Given the description of an element on the screen output the (x, y) to click on. 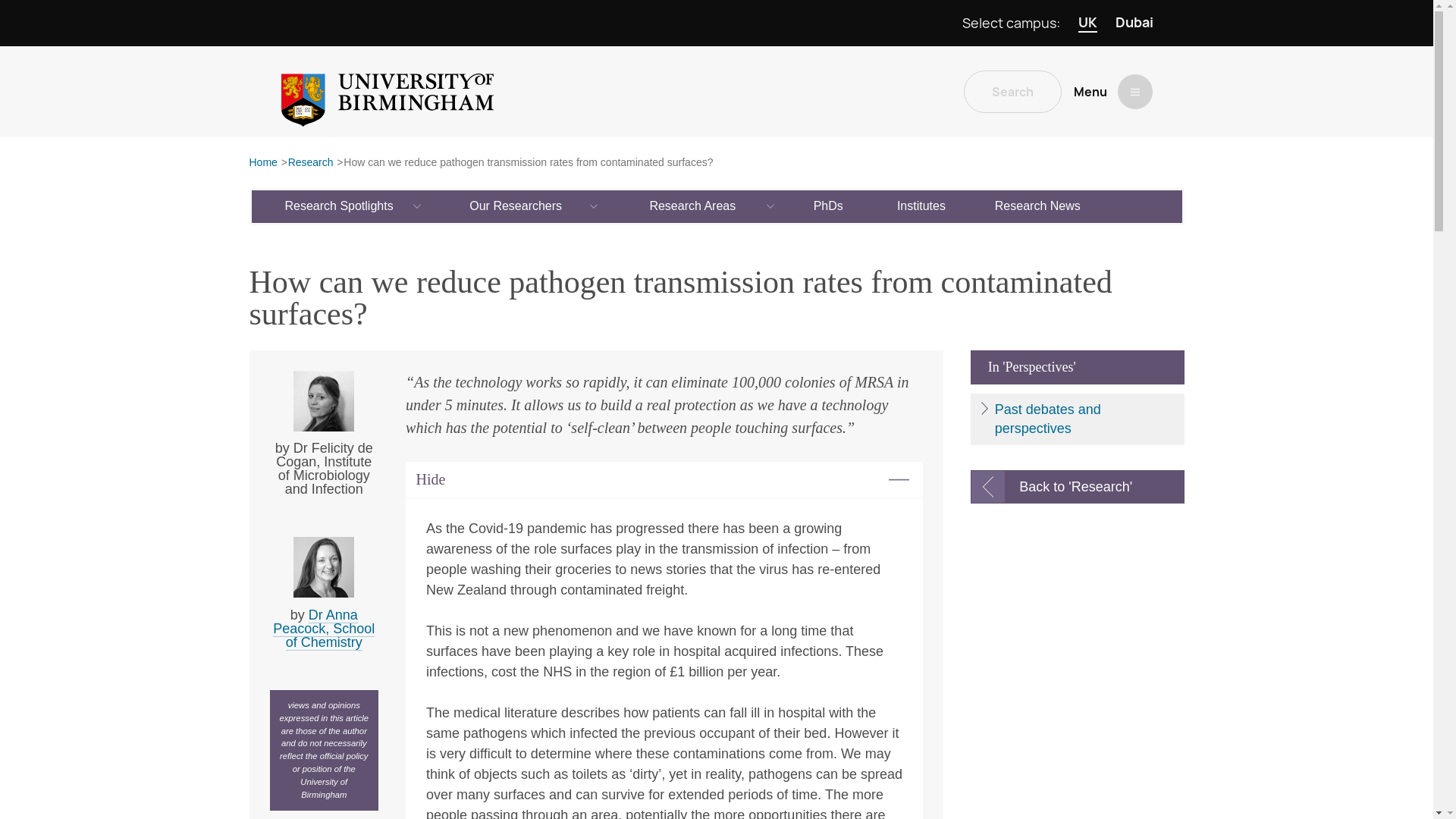
Home (262, 163)
Research Areas (693, 205)
Our Researchers (516, 205)
UK (1087, 23)
Dubai (1134, 23)
Research (310, 163)
Search (1012, 91)
Research Spotlights (339, 205)
